Given the description of an element on the screen output the (x, y) to click on. 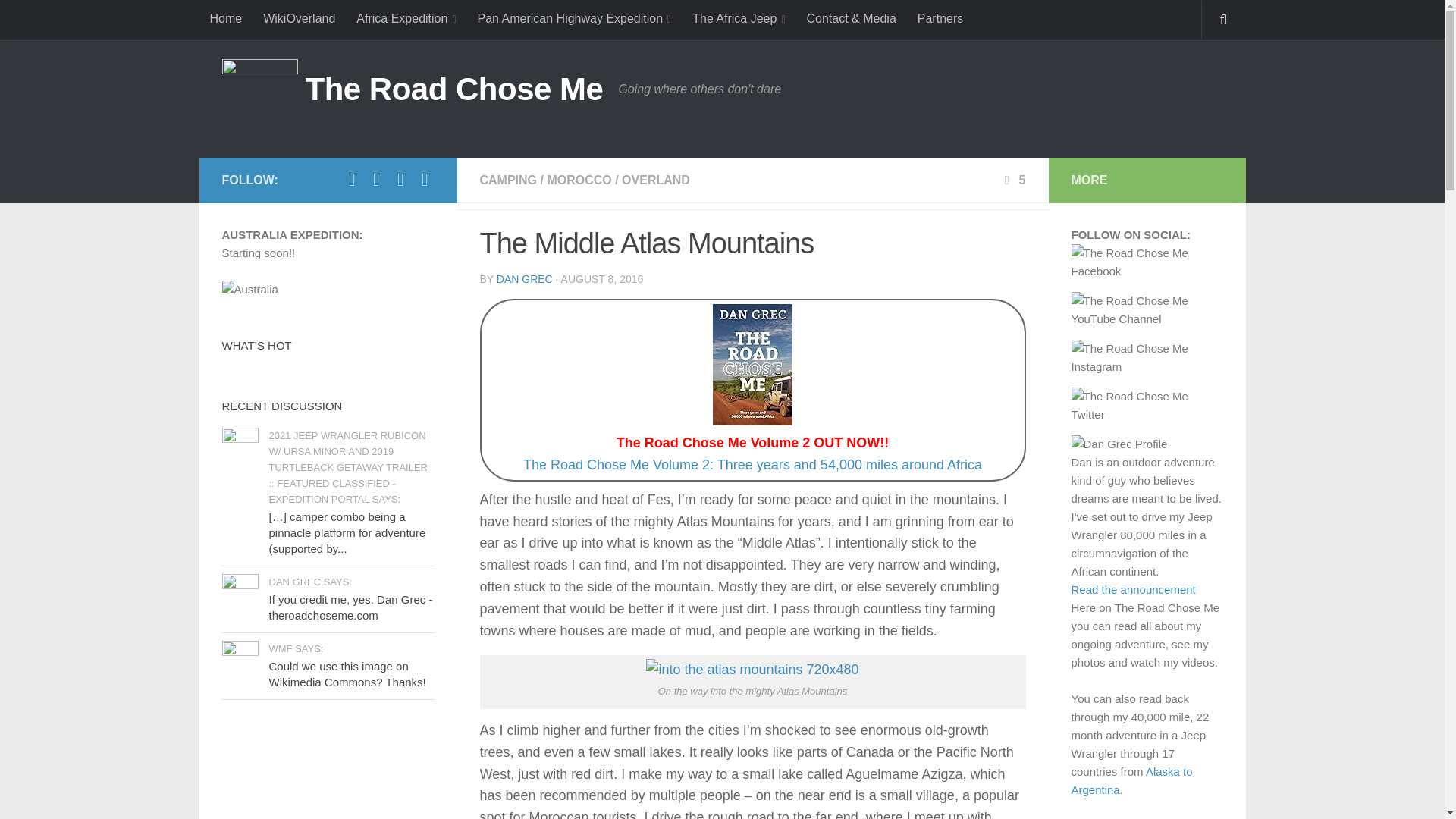
WikiOverland, the encyclopedia of Overland Travel (298, 18)
Africa Expedition (405, 19)
Posts by Dan Grec (524, 278)
The Jeep (737, 19)
WikiOverland (298, 18)
Home (224, 18)
On the way into the mighty Atlas Mountains (752, 669)
